Given the description of an element on the screen output the (x, y) to click on. 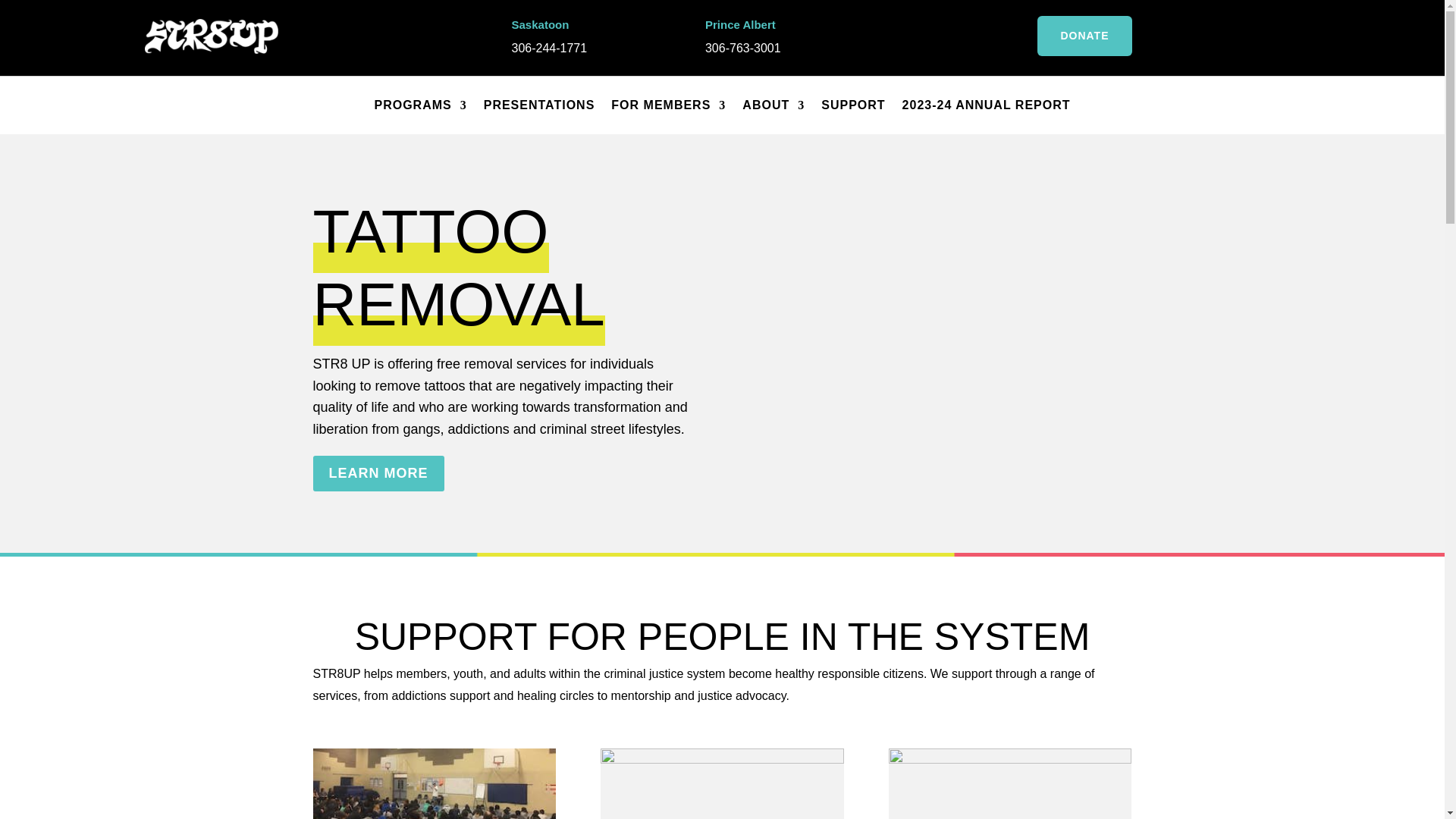
SUPPORT (853, 105)
2023-24 ANNUAL REPORT (986, 105)
give-back (1009, 783)
ABOUT (773, 105)
DONATE (1083, 35)
PRESENTATIONS (539, 105)
FOR MEMBERS (668, 105)
PROGRAMS (419, 105)
